Given the description of an element on the screen output the (x, y) to click on. 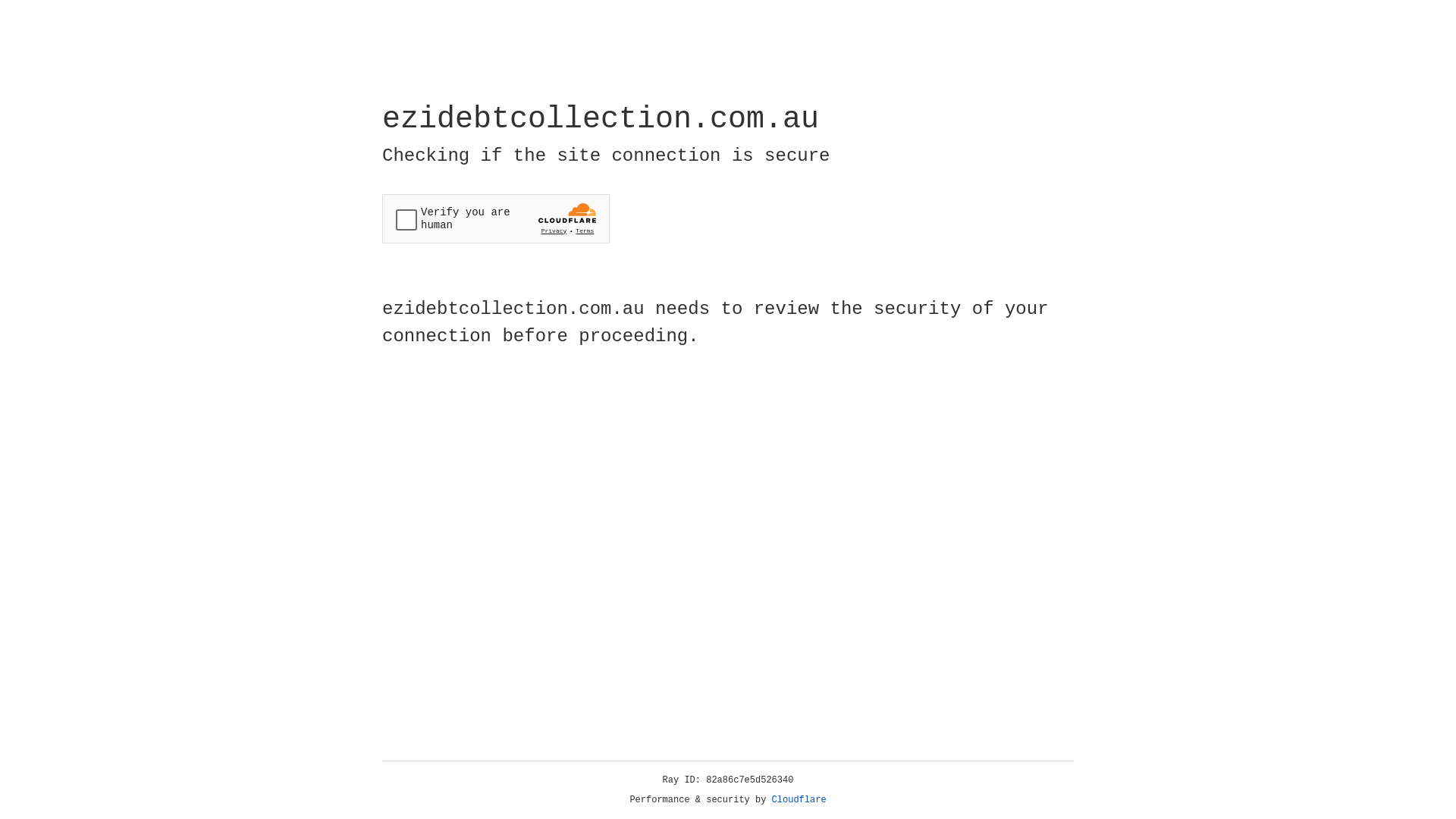
Cloudflare Element type: text (798, 799)
Widget containing a Cloudflare security challenge Element type: hover (495, 218)
